Given the description of an element on the screen output the (x, y) to click on. 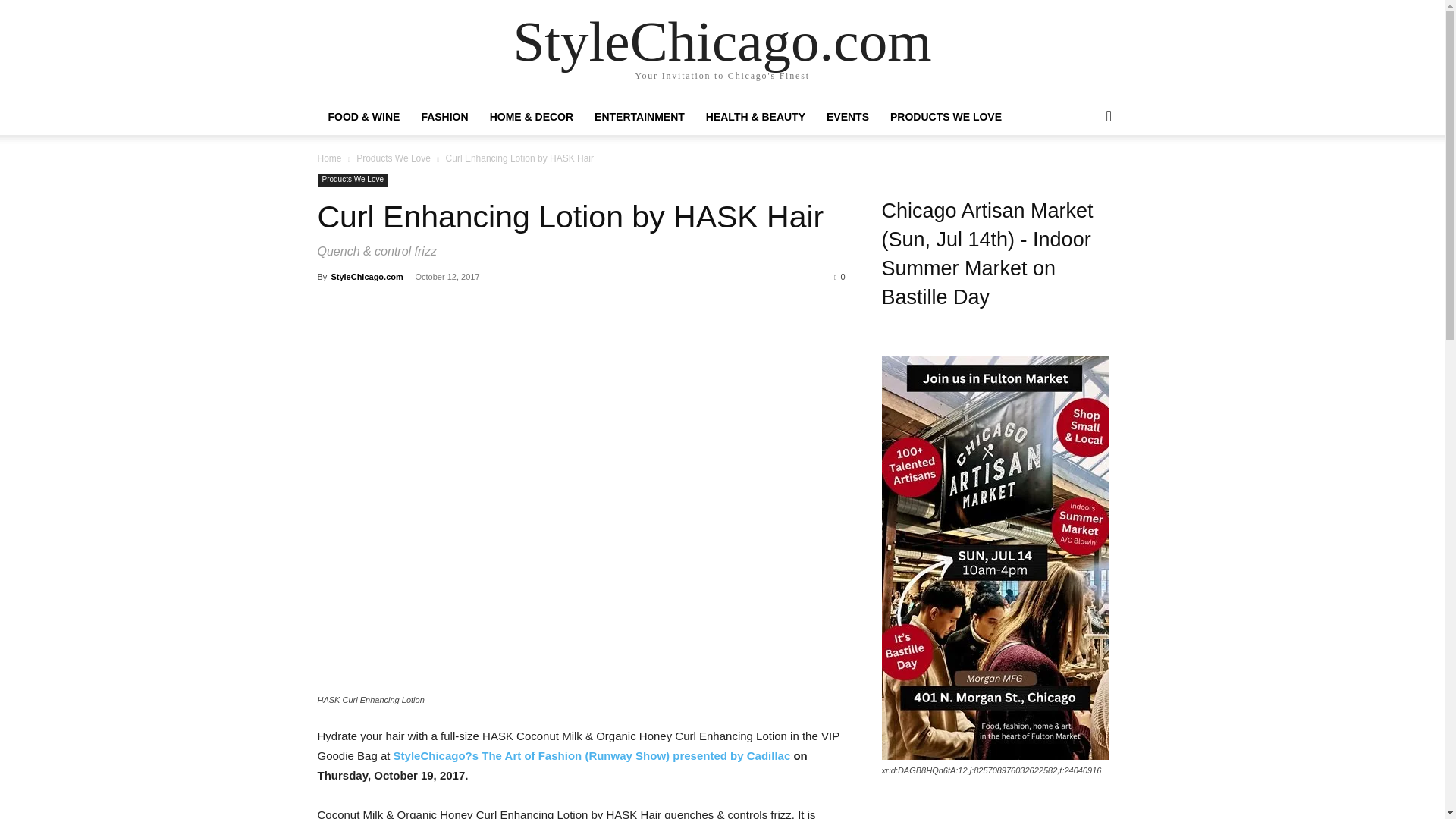
StyleChicago.com (721, 41)
View all posts in Products We Love (393, 158)
FASHION (444, 116)
ENTERTAINMENT (639, 116)
